Given the description of an element on the screen output the (x, y) to click on. 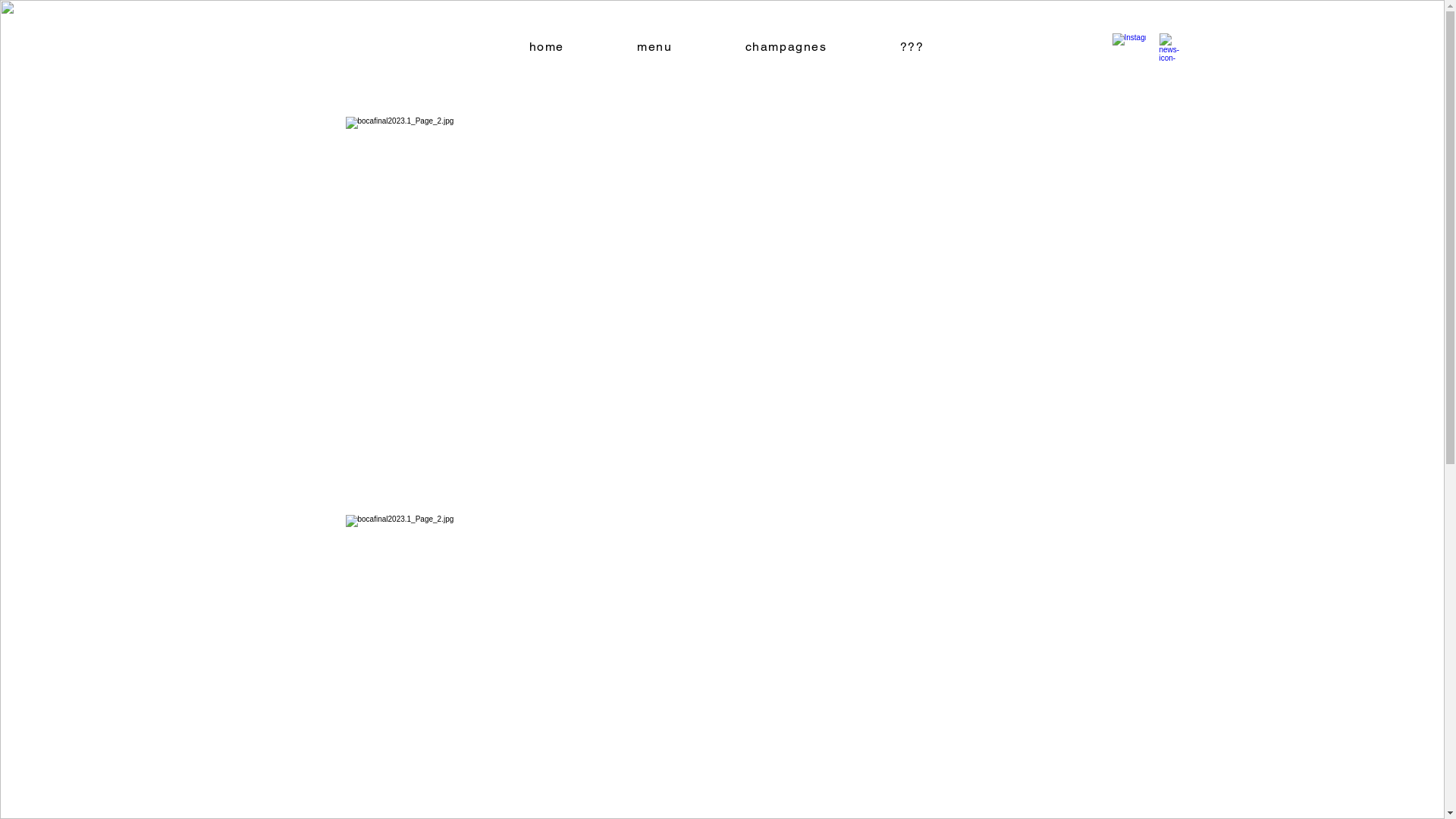
??? Element type: text (911, 46)
menu Element type: text (654, 46)
home Element type: text (546, 46)
champagnes Element type: text (785, 46)
